Given the description of an element on the screen output the (x, y) to click on. 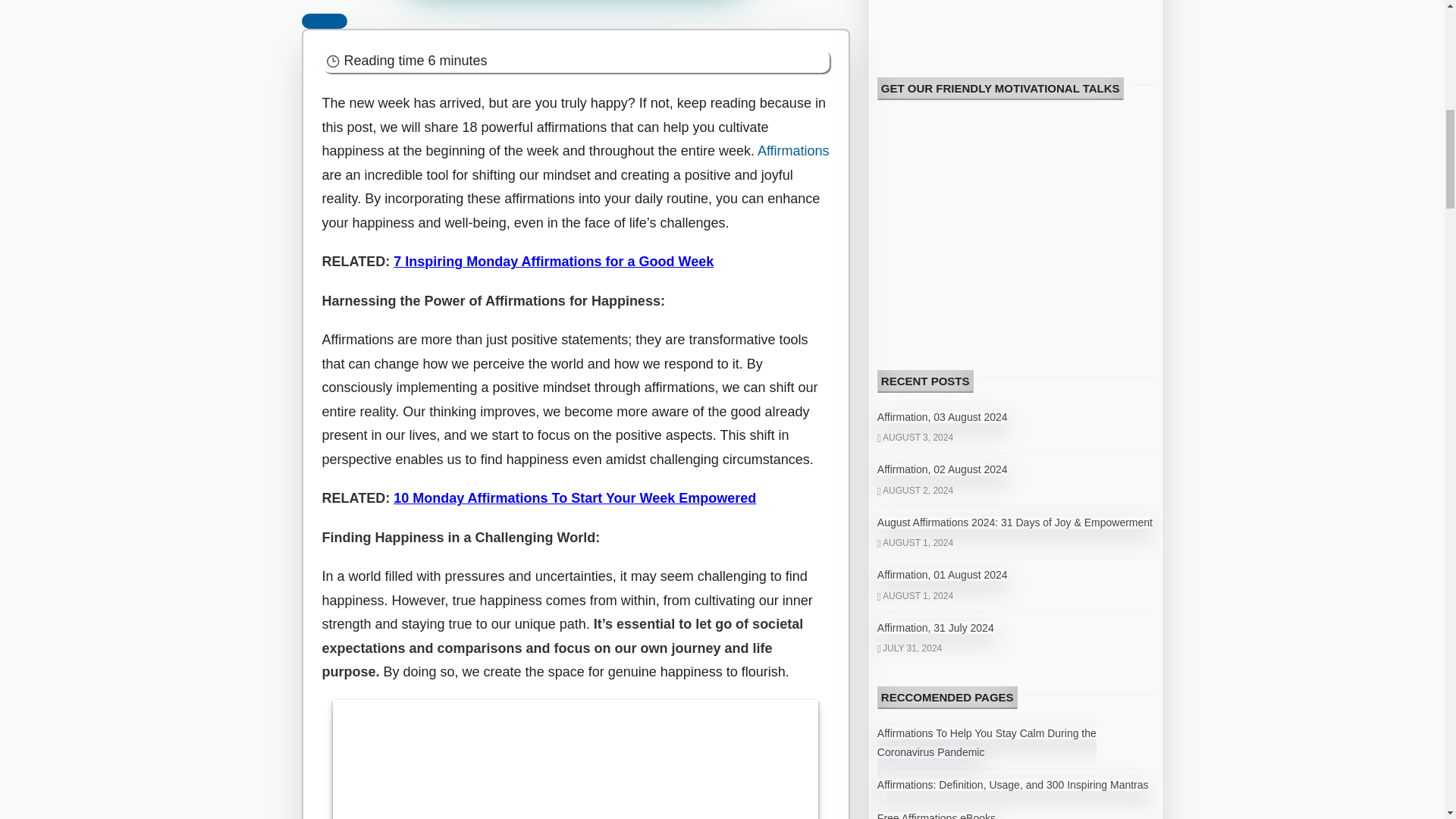
Affirmations (793, 150)
7 Inspiring Monday Affirmations for a Good Week (553, 261)
10 Monday Affirmations To Start Your Week Empowered (574, 498)
18 Affirmations for a Happy Start of the Week (575, 759)
